Given the description of an element on the screen output the (x, y) to click on. 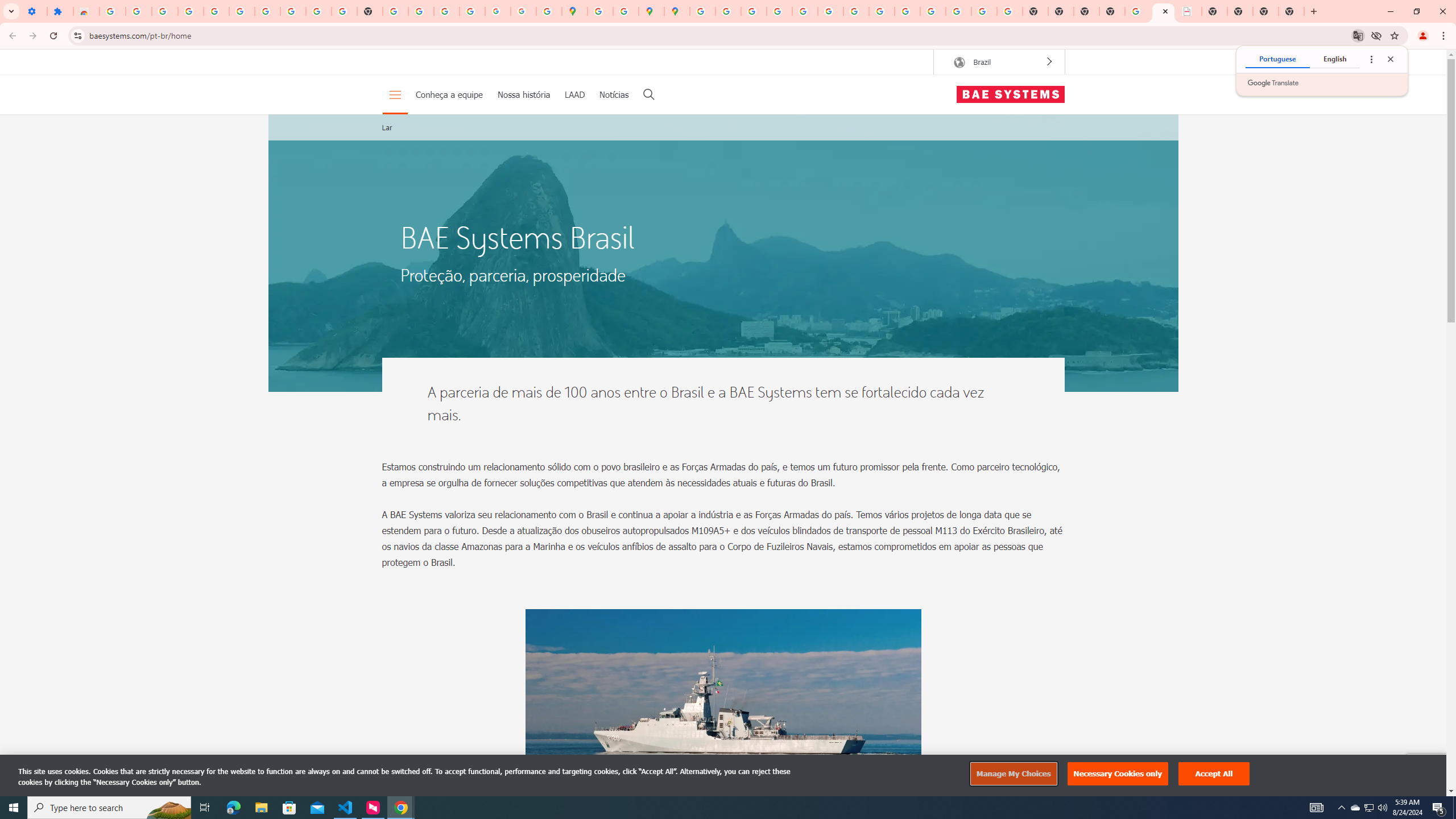
Necessary Cookies only (1118, 774)
Manage My Choices (1013, 774)
Translate this page (1358, 35)
